Given the description of an element on the screen output the (x, y) to click on. 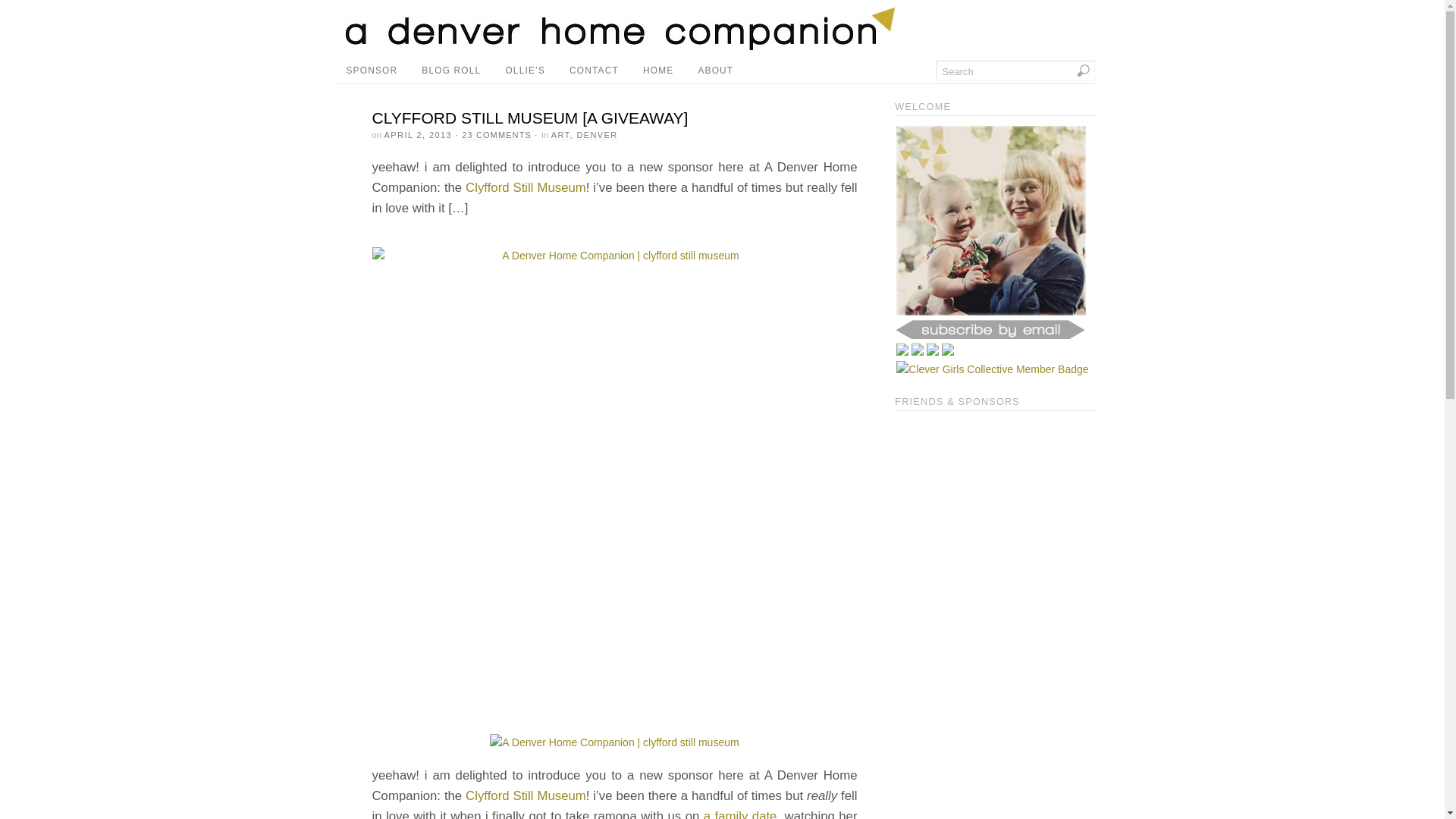
Clyfford Still Museum (525, 187)
ART (560, 135)
DENVER (596, 135)
CLYFFORD STILL MUSEUM (740, 814)
A DENVER HOME COMPANION (620, 46)
HOME (657, 70)
Search (1015, 70)
CLYFFORD STILL MUSEUM (525, 187)
ABOUT (715, 70)
Search (1015, 70)
a family date (740, 814)
2013-04-02T08:00:53-0700 (417, 134)
CONTACT (593, 70)
BLOG ROLL (451, 70)
23 COMMENTS (496, 135)
